Given the description of an element on the screen output the (x, y) to click on. 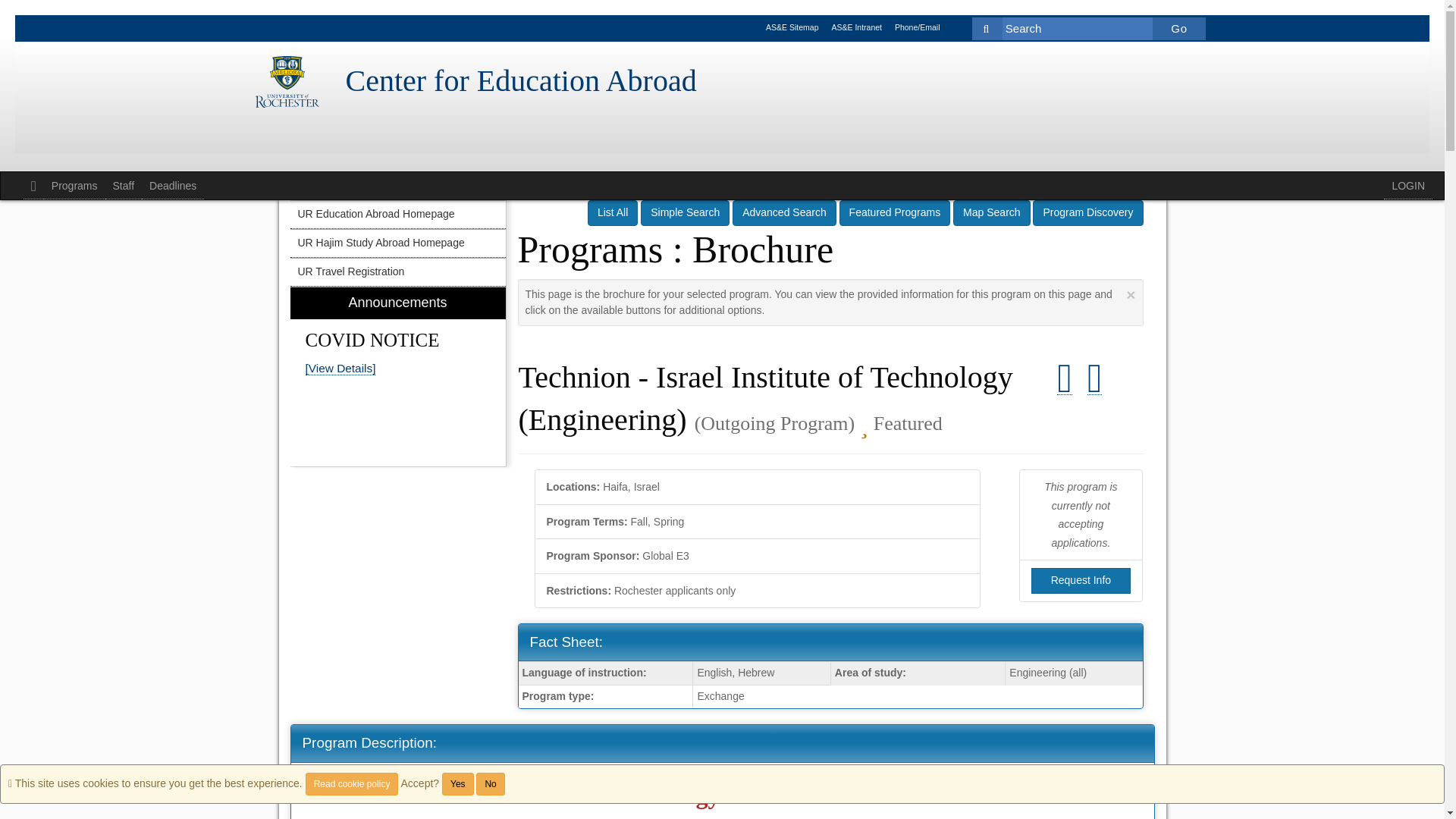
Featured Programs (895, 212)
Program Discovery (1087, 212)
List All (612, 212)
Map Search (991, 212)
Center for Education Abroad (521, 81)
List All (612, 212)
Simple Search (684, 212)
University of Rochester (286, 81)
Advanced Search (783, 212)
Advanced Search (783, 212)
